Given the description of an element on the screen output the (x, y) to click on. 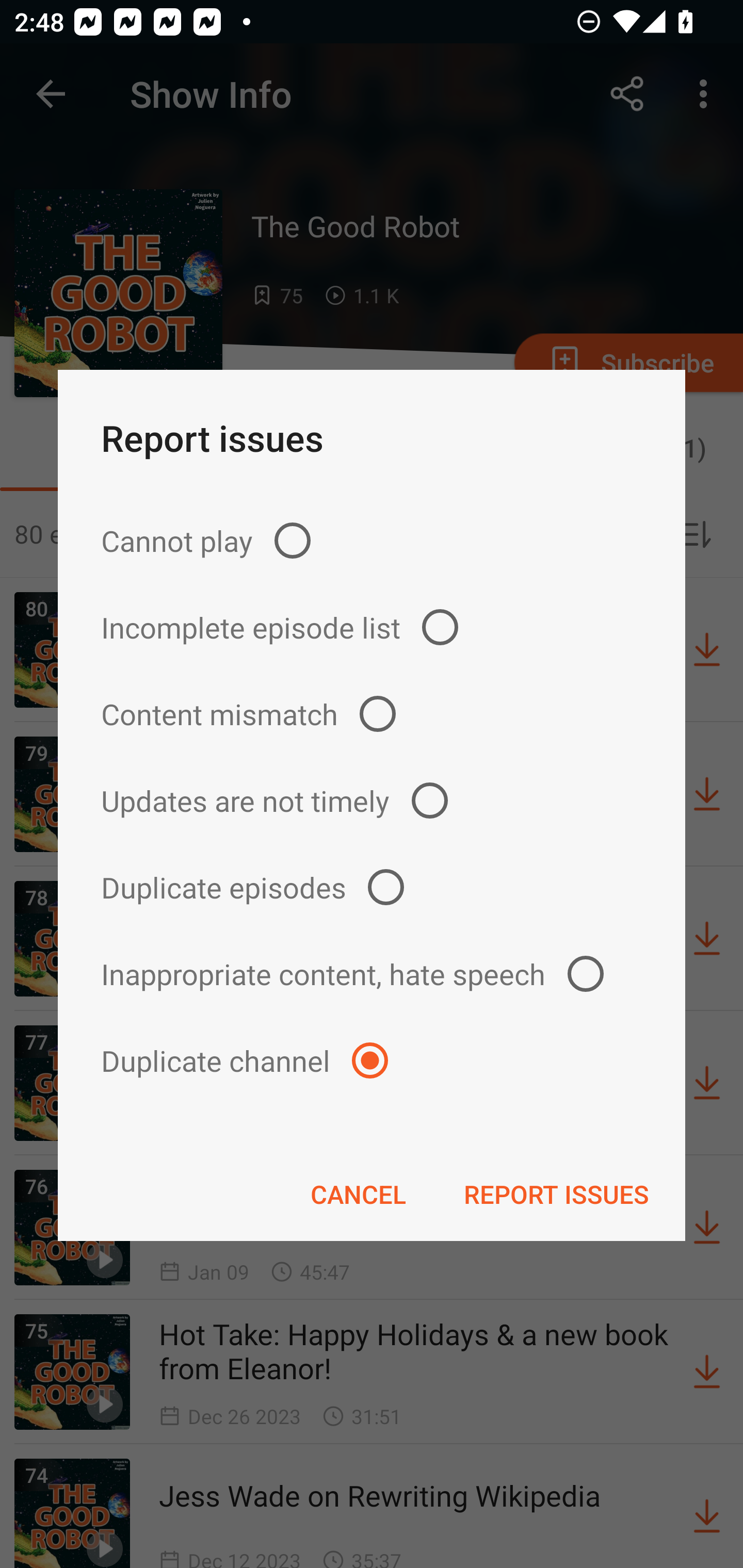
Cannot play (371, 540)
Incomplete episode list (371, 627)
Content mismatch (371, 714)
Updates are not timely (371, 800)
Duplicate episodes (371, 886)
Inappropriate content, hate speech (371, 973)
Duplicate channel (371, 1060)
CANCEL (357, 1193)
REPORT ISSUES (555, 1193)
